Given the description of an element on the screen output the (x, y) to click on. 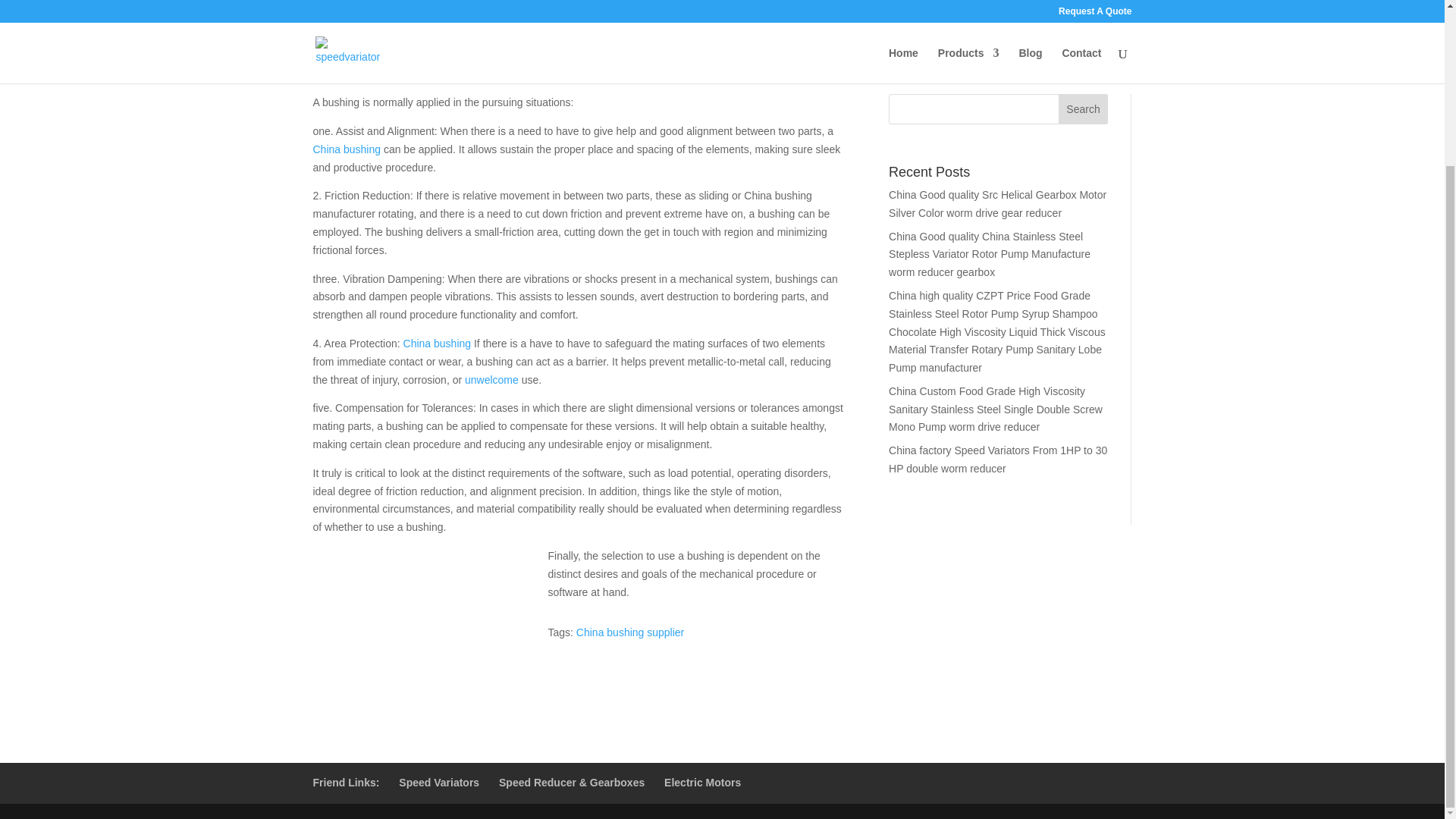
Electric Motors (702, 782)
Speed Variators (438, 782)
China bushing supplier (630, 632)
China bushing (346, 149)
China bushing (437, 343)
Search (1083, 109)
Friend Links: (345, 782)
Search (1083, 109)
unwelcome (491, 379)
